Given the description of an element on the screen output the (x, y) to click on. 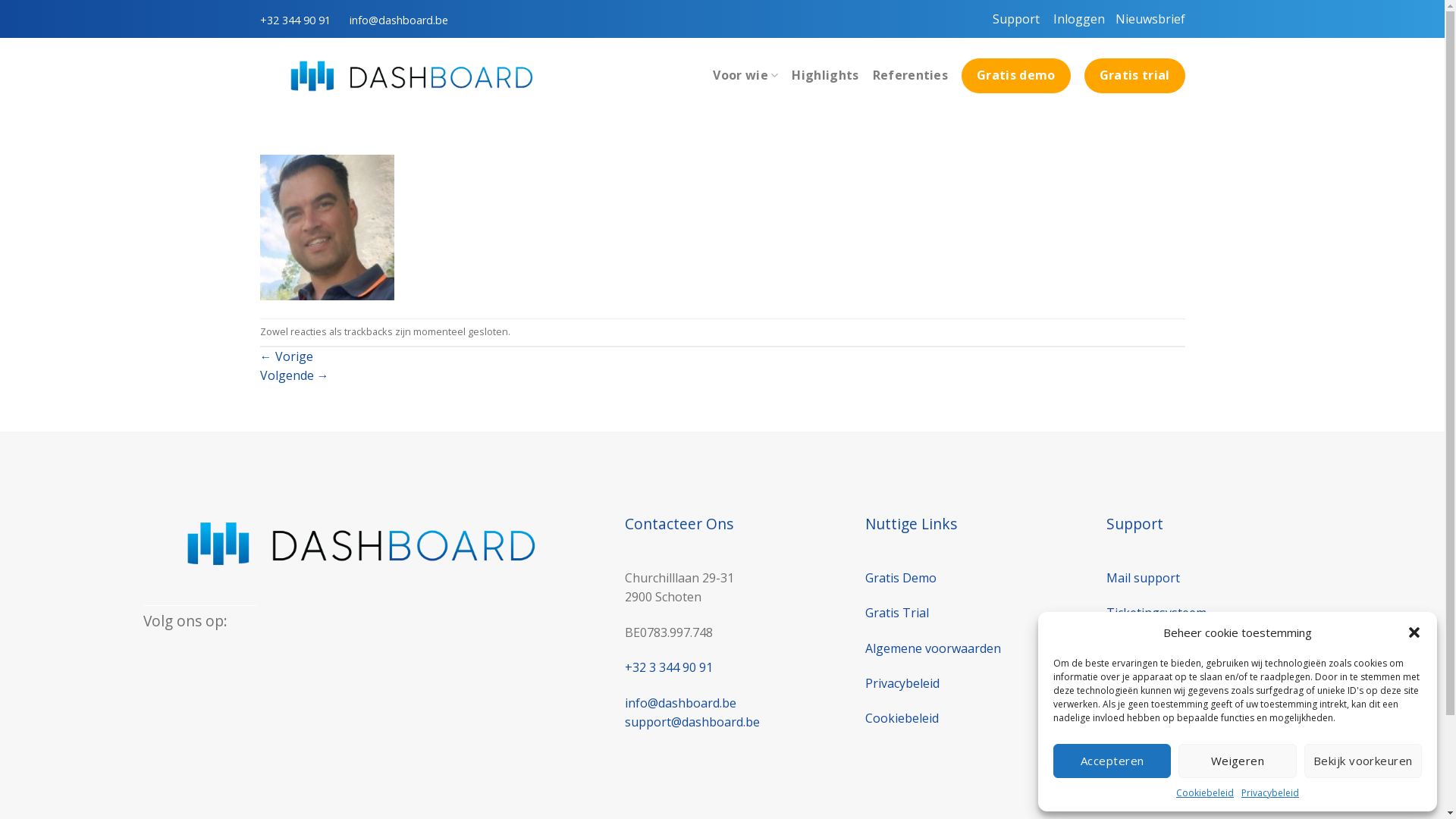
Gratis demo Element type: text (1015, 75)
+32 3 344 90 91 Element type: text (668, 666)
Mail support Element type: text (1142, 577)
info@dashboard.be Element type: text (680, 702)
Gratis trial Element type: text (1134, 75)
Privacybeleid Element type: text (1270, 792)
Profielfoto voor website_edited Element type: hover (326, 225)
Nieuwsbrief Element type: text (1149, 18)
Gratis Trial Element type: text (896, 612)
Accepteren Element type: text (1111, 760)
Cookiebeleid Element type: text (901, 717)
 Inloggen Element type: text (1076, 18)
+32 344 90 91 Element type: text (302, 19)
Support Element type: text (1014, 18)
info@dashboard.be Element type: text (405, 19)
support@dashboard.be Element type: text (691, 721)
Gratis Demo Element type: text (900, 577)
Teamviewer Element type: text (1141, 648)
Cookiebeleid Element type: text (1204, 792)
Weigeren Element type: text (1236, 760)
Referenties Element type: text (910, 75)
Algemene voorwaarden Element type: text (933, 648)
Ga naar inhoud Element type: text (0, 0)
Ticketingsysteem Element type: text (1156, 612)
Bekijk voorkeuren Element type: text (1362, 760)
Voor wie Element type: text (745, 75)
Highlights Element type: text (824, 75)
Privacybeleid Element type: text (902, 682)
